Given the description of an element on the screen output the (x, y) to click on. 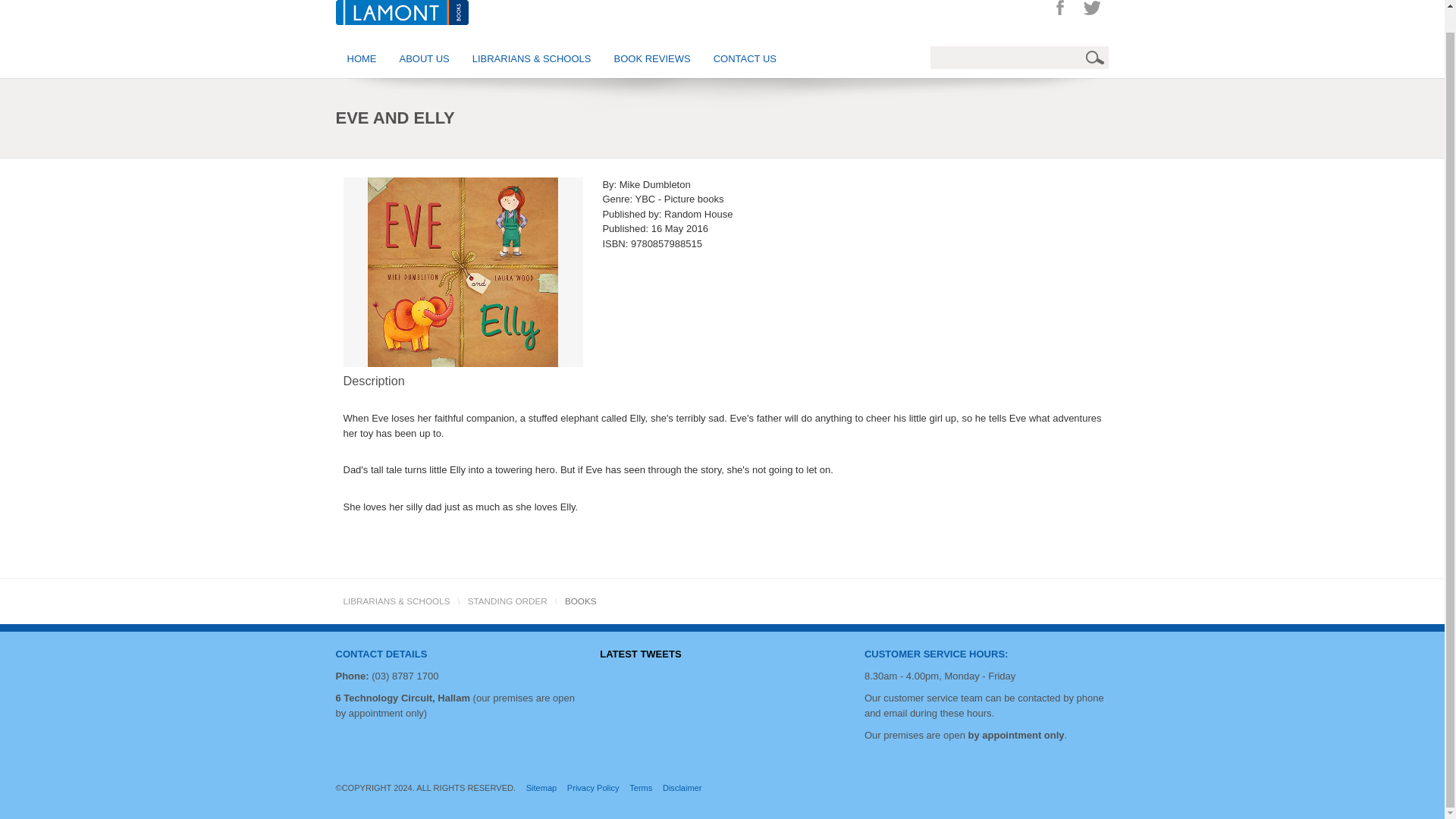
HOME (360, 58)
Contact Us (936, 653)
ABOUT US (424, 58)
Search (1097, 56)
